Given the description of an element on the screen output the (x, y) to click on. 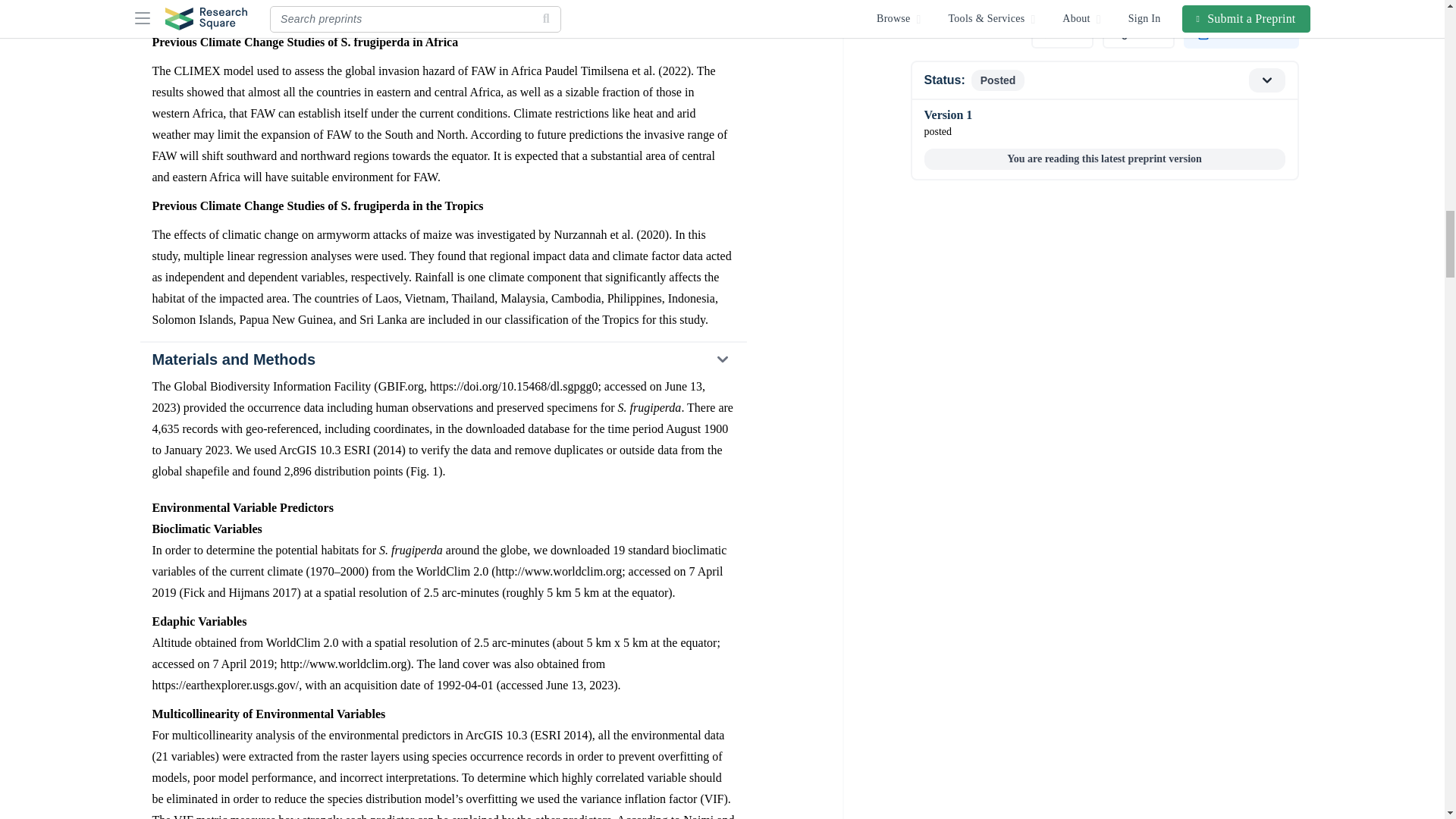
Materials and Methods (442, 359)
